Given the description of an element on the screen output the (x, y) to click on. 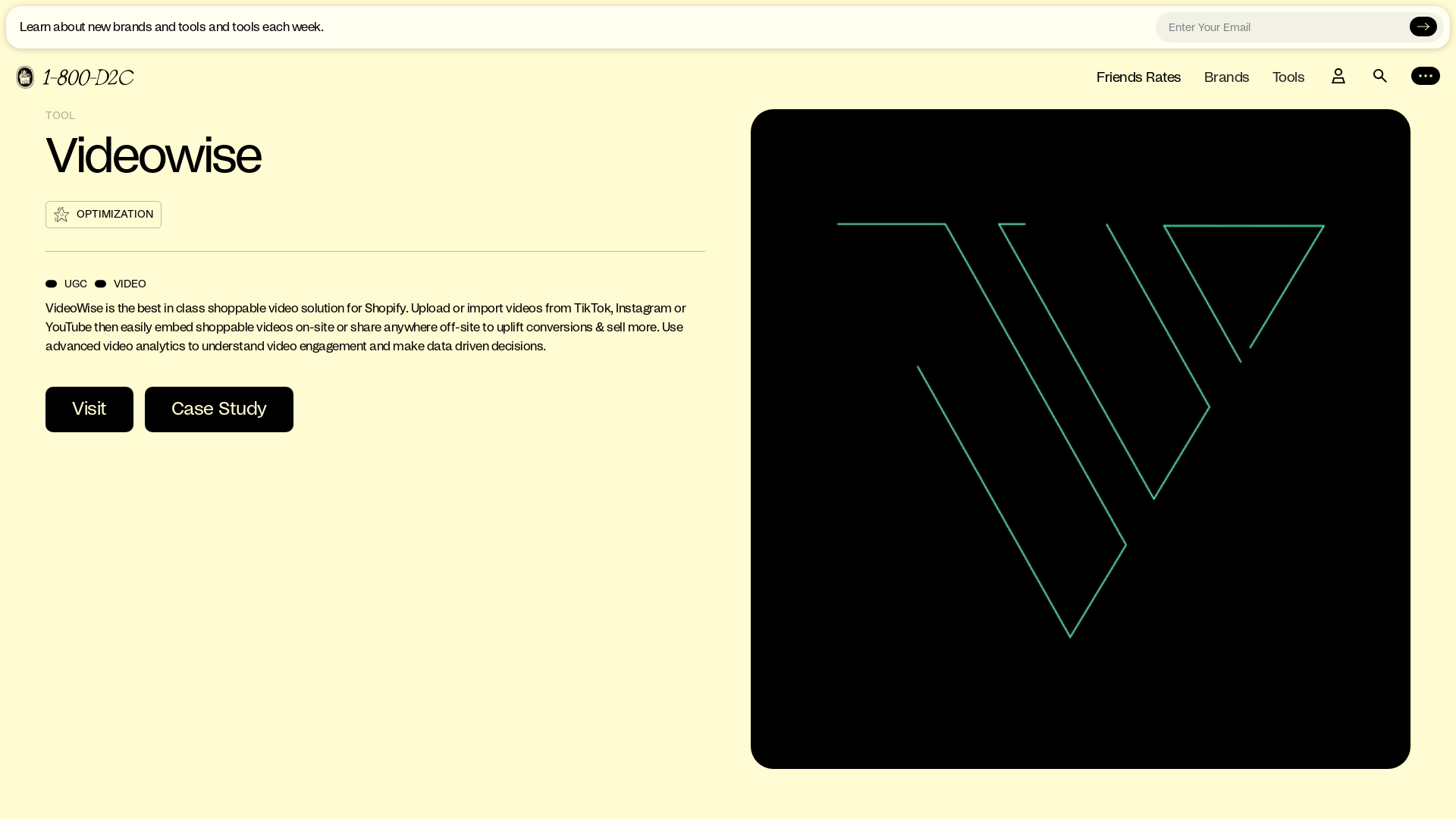
Case Study Element type: text (218, 409)
Visit Element type: text (89, 409)
UGC Element type: text (66, 284)
VIDEO Element type: text (120, 284)
Friends Rates Element type: text (1138, 78)
OPTIMIZATION Element type: text (103, 214)
